Given the description of an element on the screen output the (x, y) to click on. 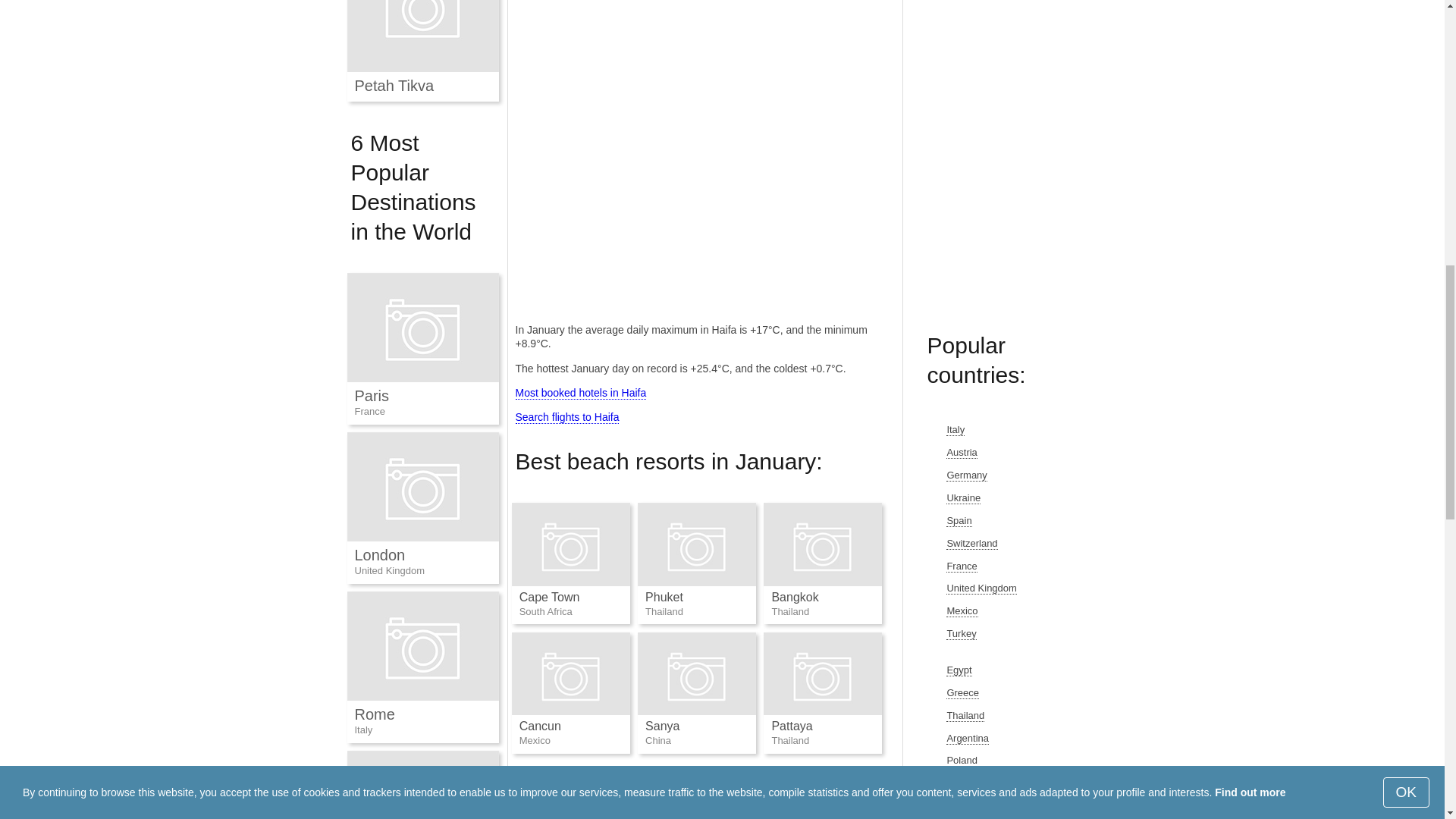
Cape Town (549, 596)
Ukraine (962, 498)
Bangkok (794, 596)
Phuket (663, 596)
Germany (966, 475)
Most booked hotels in Haifa (580, 392)
Italy (954, 429)
Switzerland (971, 543)
Pattaya (791, 725)
France (961, 566)
Search flights to Haifa (567, 417)
Austria (961, 452)
Spain (958, 521)
Sanya (662, 725)
Cancun (539, 725)
